Given the description of an element on the screen output the (x, y) to click on. 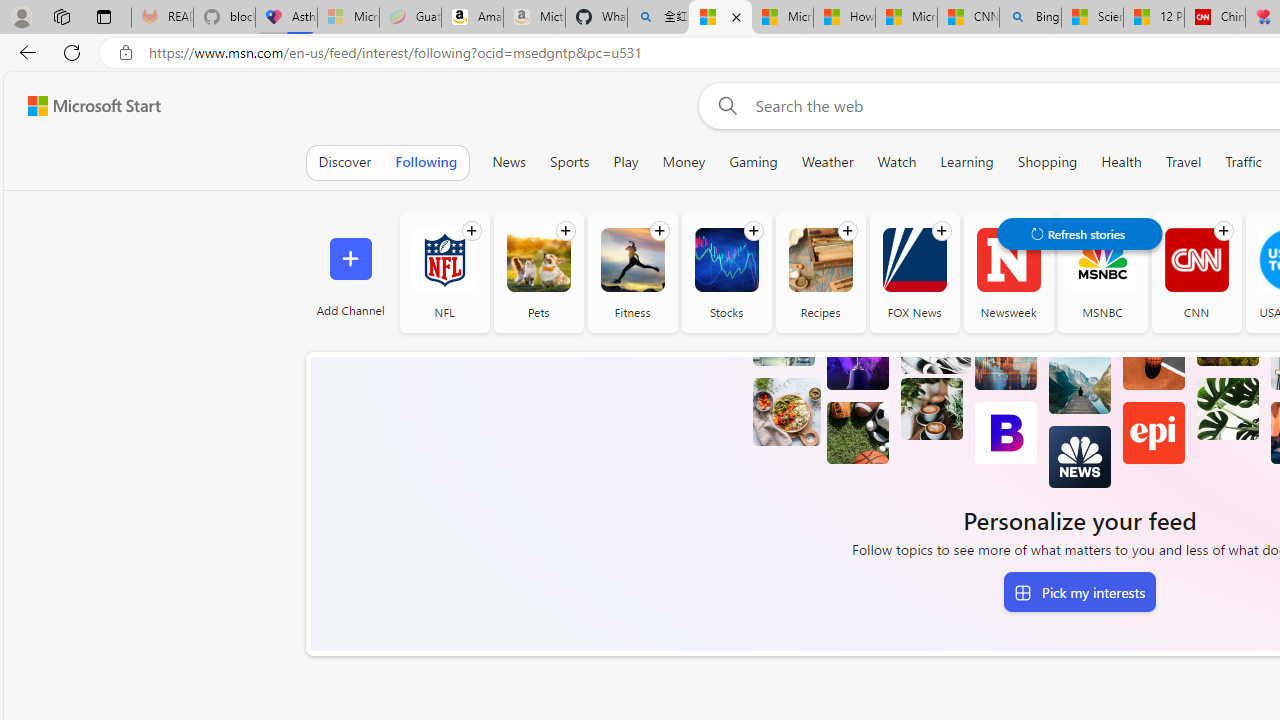
FOX News (914, 272)
Money (684, 162)
Play (625, 161)
Class: control (1079, 233)
News (508, 162)
CNN (1195, 260)
Shopping (1047, 162)
Learning (966, 161)
Recipes (820, 260)
CNN - MSN (968, 17)
FOX News (914, 260)
